Given the description of an element on the screen output the (x, y) to click on. 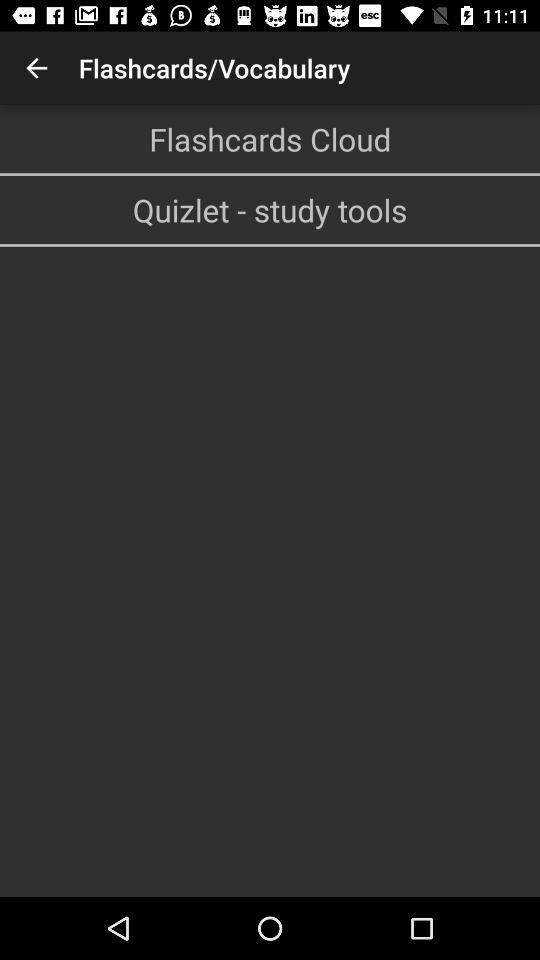
turn on the item above the flashcards cloud (36, 68)
